Given the description of an element on the screen output the (x, y) to click on. 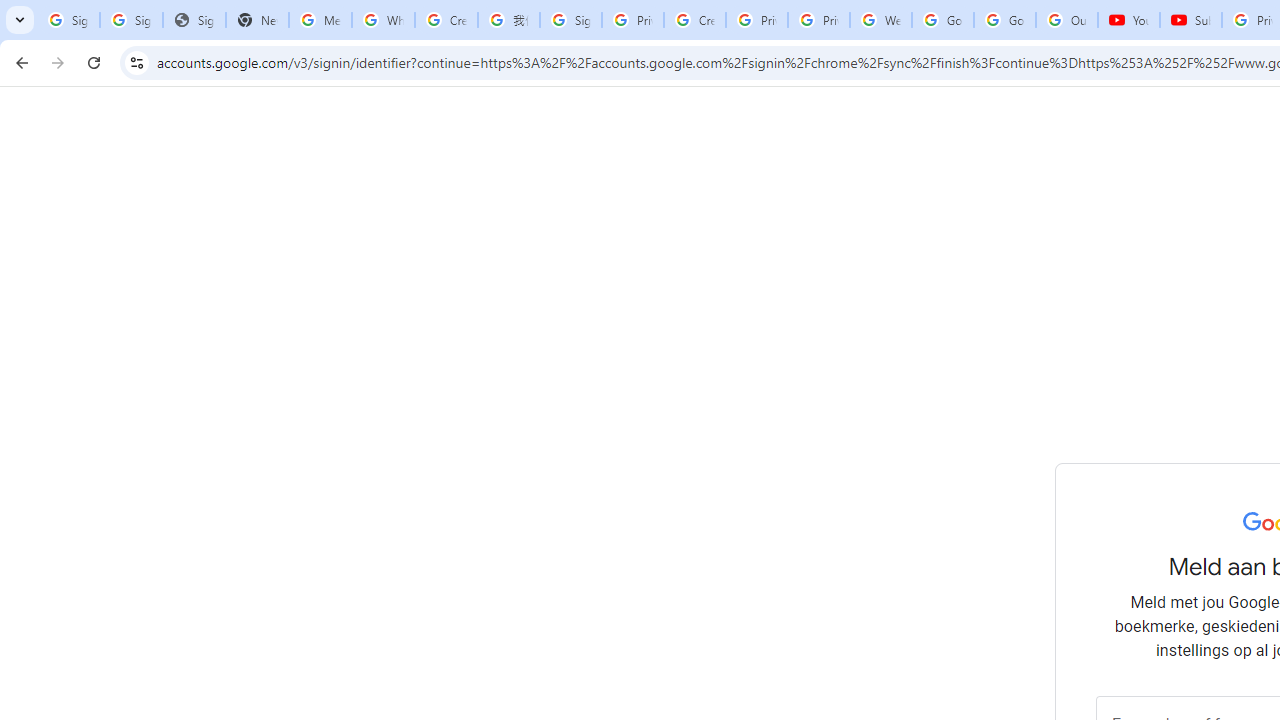
Sign in - Google Accounts (130, 20)
Sign in - Google Accounts (570, 20)
Welcome to My Activity (880, 20)
Create your Google Account (694, 20)
